Given the description of an element on the screen output the (x, y) to click on. 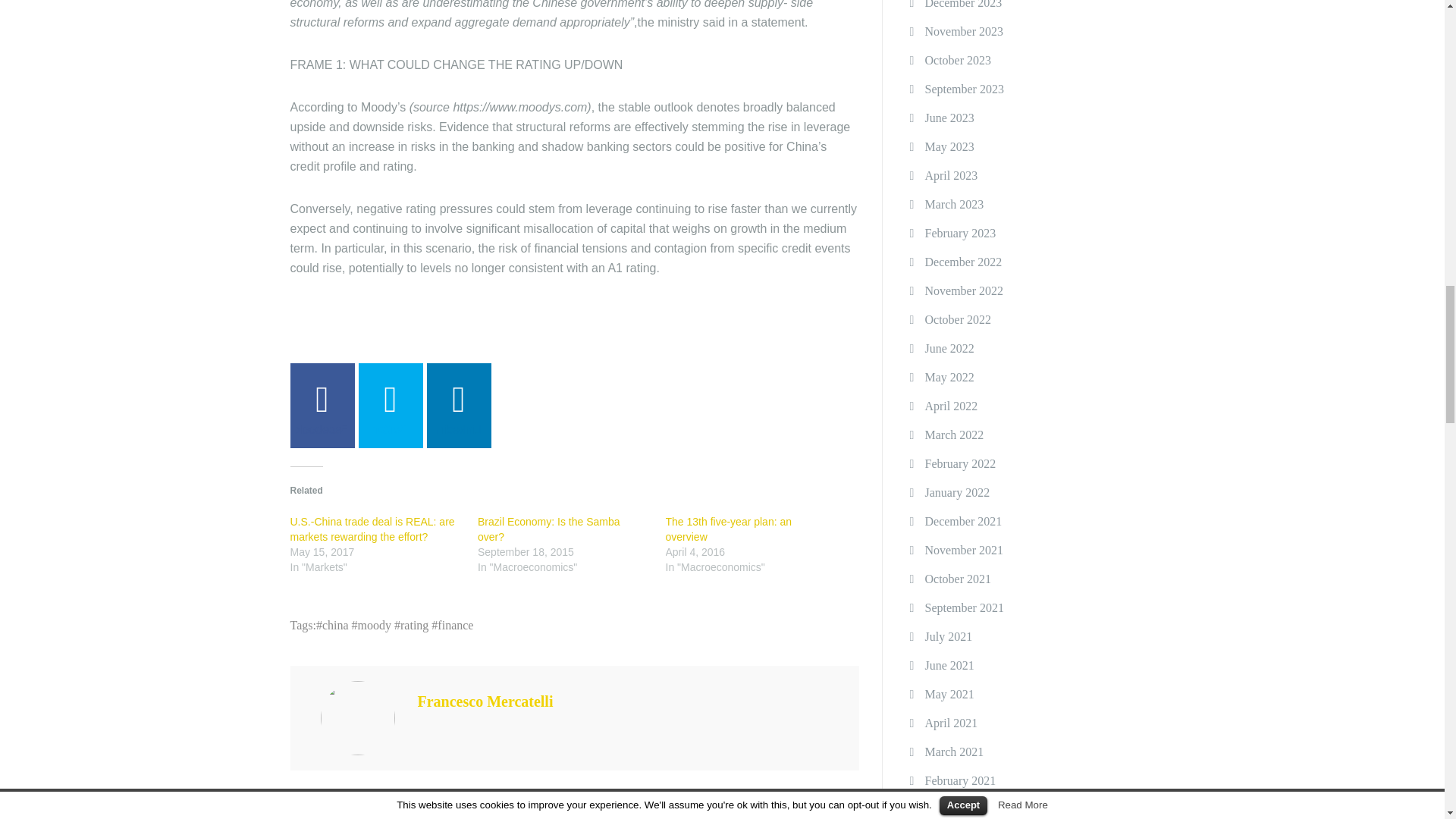
Brazil Economy: Is the Samba over? (548, 528)
The 13th five-year plan: an overview (728, 528)
